Given the description of an element on the screen output the (x, y) to click on. 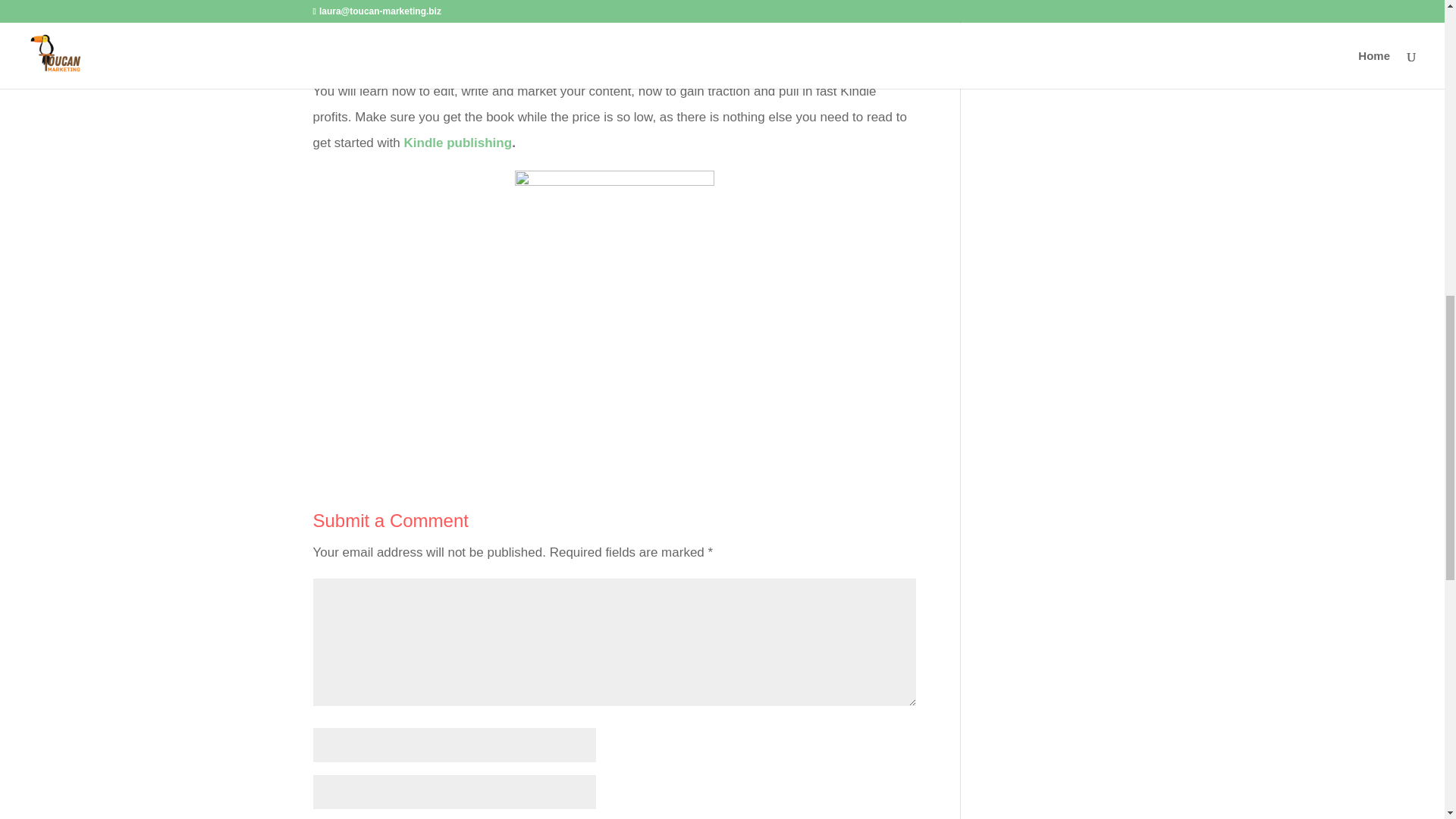
kindle publishing (458, 142)
Kindle publishing (458, 142)
